Given the description of an element on the screen output the (x, y) to click on. 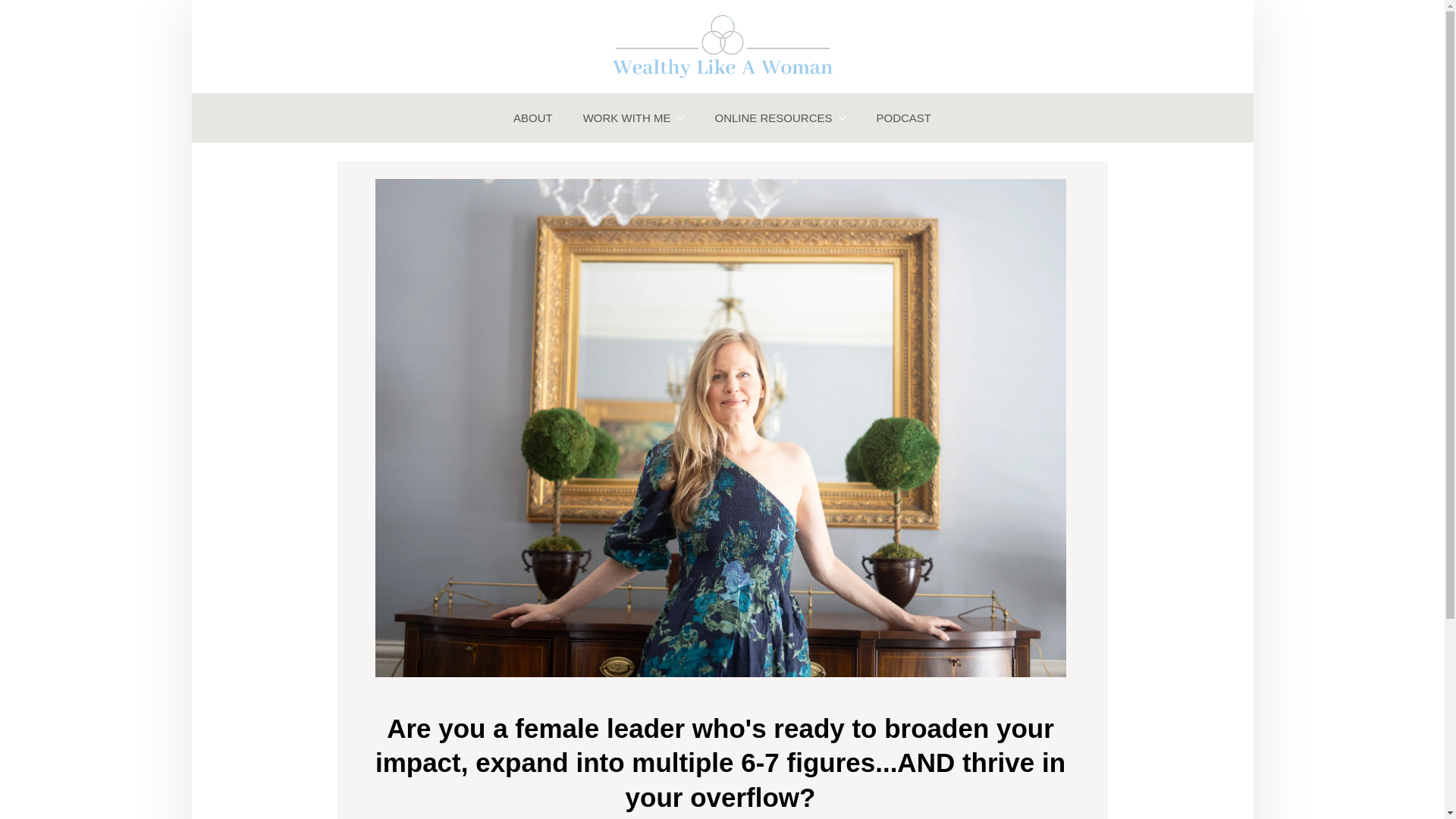
PODCAST (904, 117)
ABOUT (532, 117)
ONLINE RESOURCES (779, 117)
WORK WITH ME (633, 117)
